Given the description of an element on the screen output the (x, y) to click on. 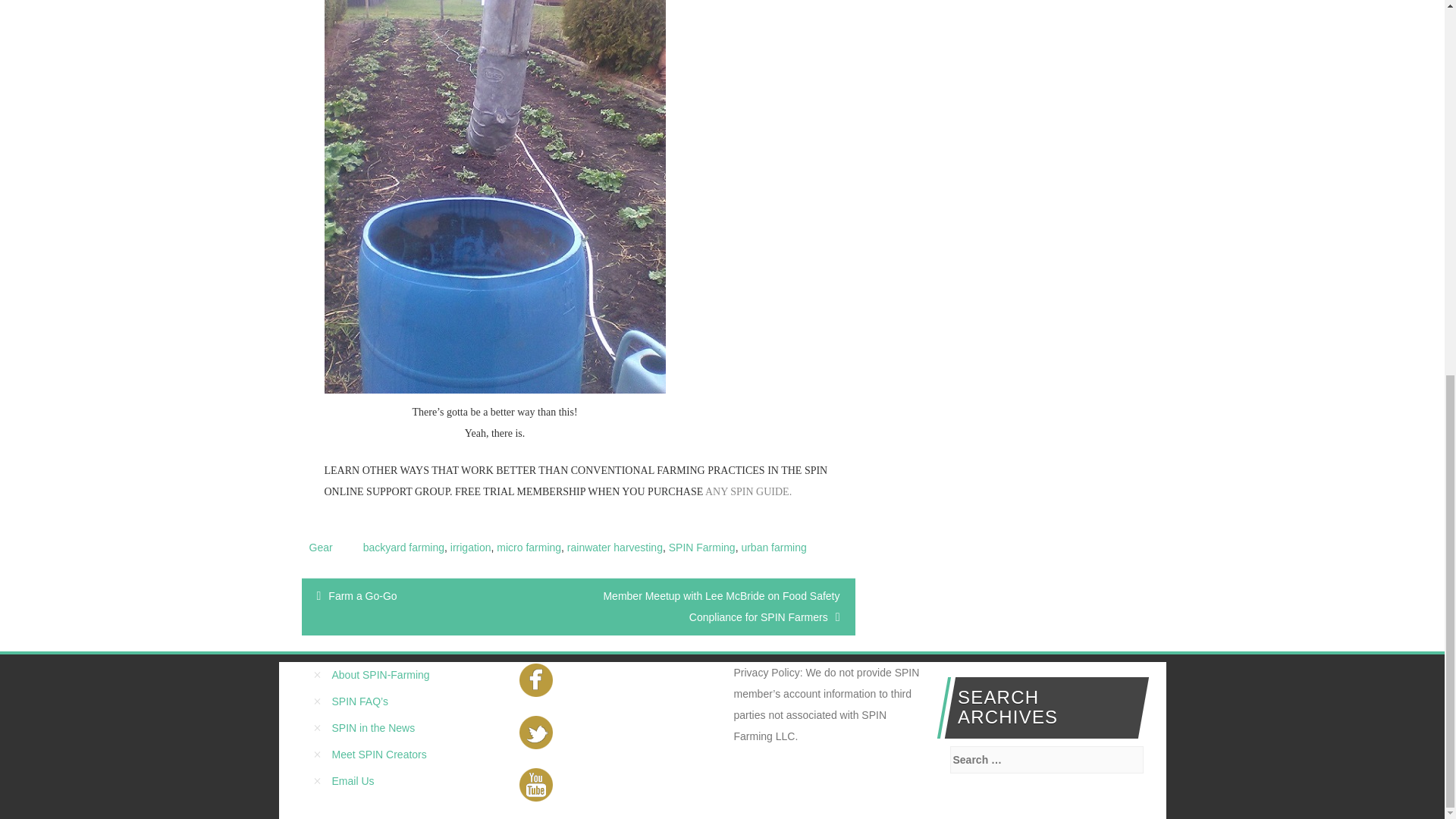
Email Us (352, 780)
ANY SPIN GUIDE. (748, 491)
Gear (320, 547)
urban farming (773, 547)
irrigation (470, 547)
SPIN Farming (701, 547)
backyard farming (403, 547)
rainwater harvesting (614, 547)
Meet SPIN Creators (378, 754)
Farm a Go-Go (362, 595)
About SPIN-Farming (380, 674)
SPIN in the News (372, 727)
micro farming (528, 547)
